Given the description of an element on the screen output the (x, y) to click on. 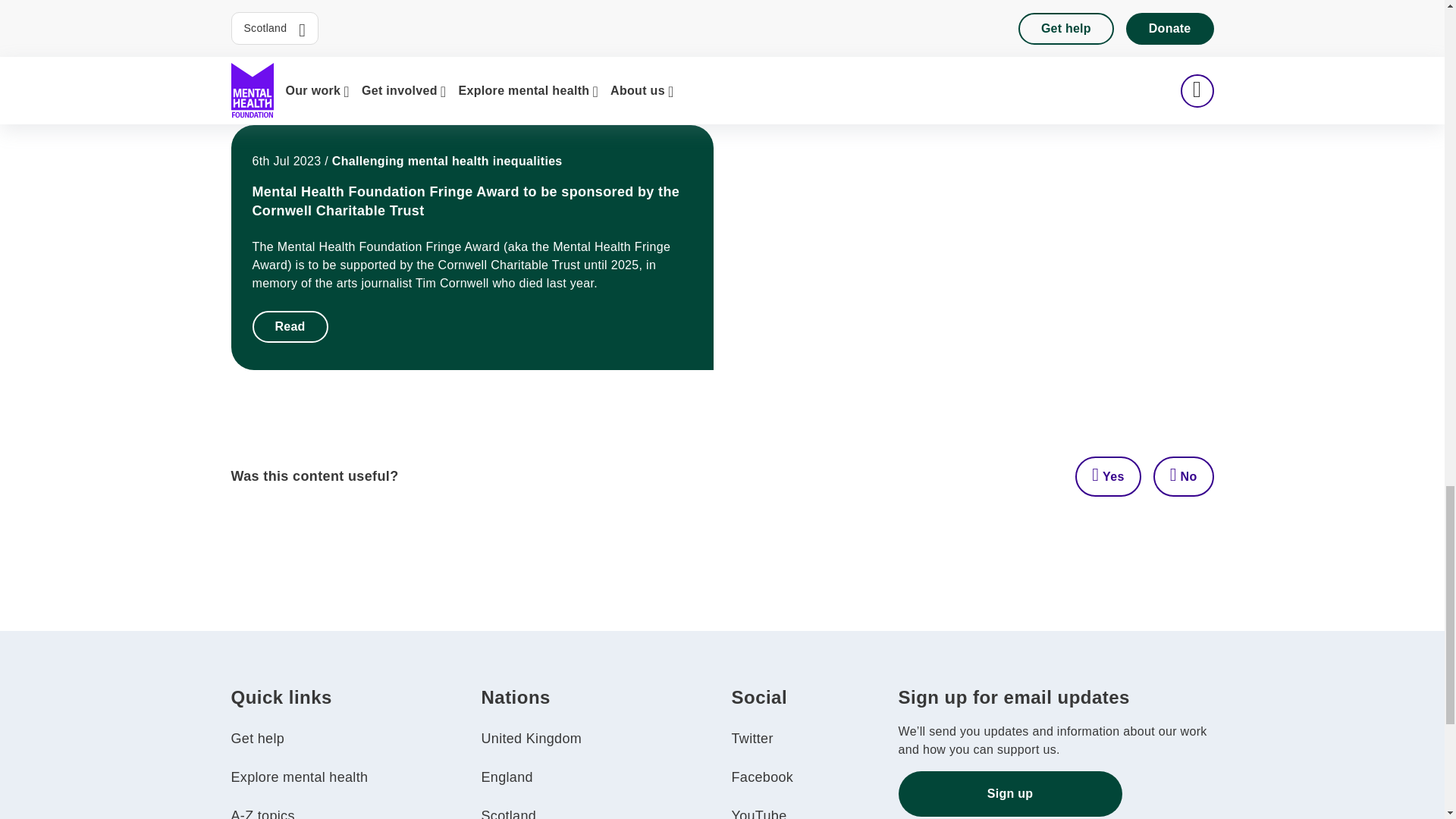
Twitter (751, 738)
YouTube (758, 813)
Facebook (761, 776)
